Given the description of an element on the screen output the (x, y) to click on. 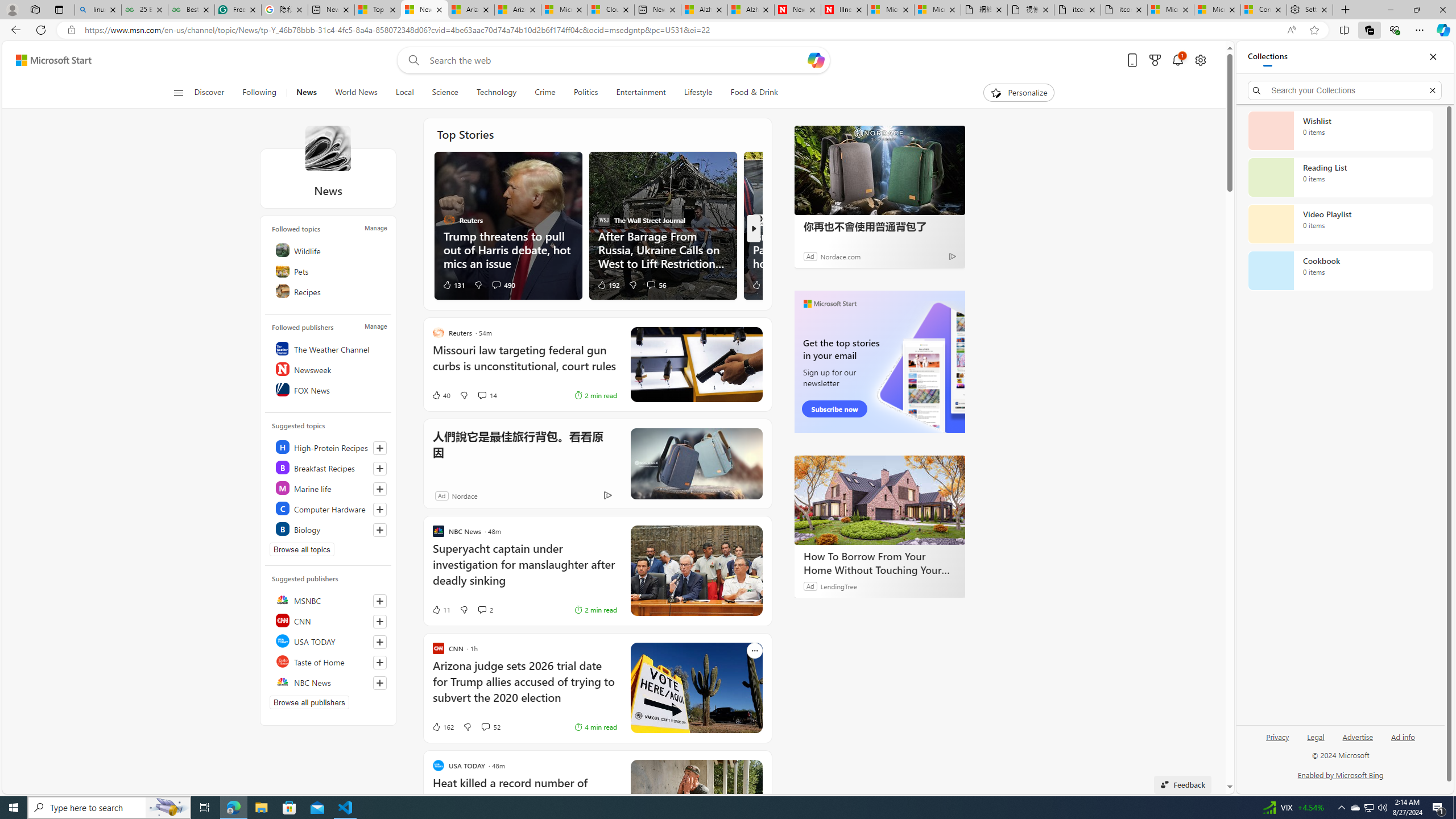
View comments 52 Comment (490, 726)
Microsoft Services Agreement (563, 9)
Personalize (1019, 92)
Microsoft rewards (1154, 60)
Privacy (1277, 741)
LendingTree (838, 586)
linux basic - Search (97, 9)
Video Playlist collection, 0 items (1339, 223)
Class: highlight (328, 529)
itconcepthk.com/projector_solutions.mp4 (1123, 9)
Open settings (1199, 60)
Legal (1315, 741)
